Given the description of an element on the screen output the (x, y) to click on. 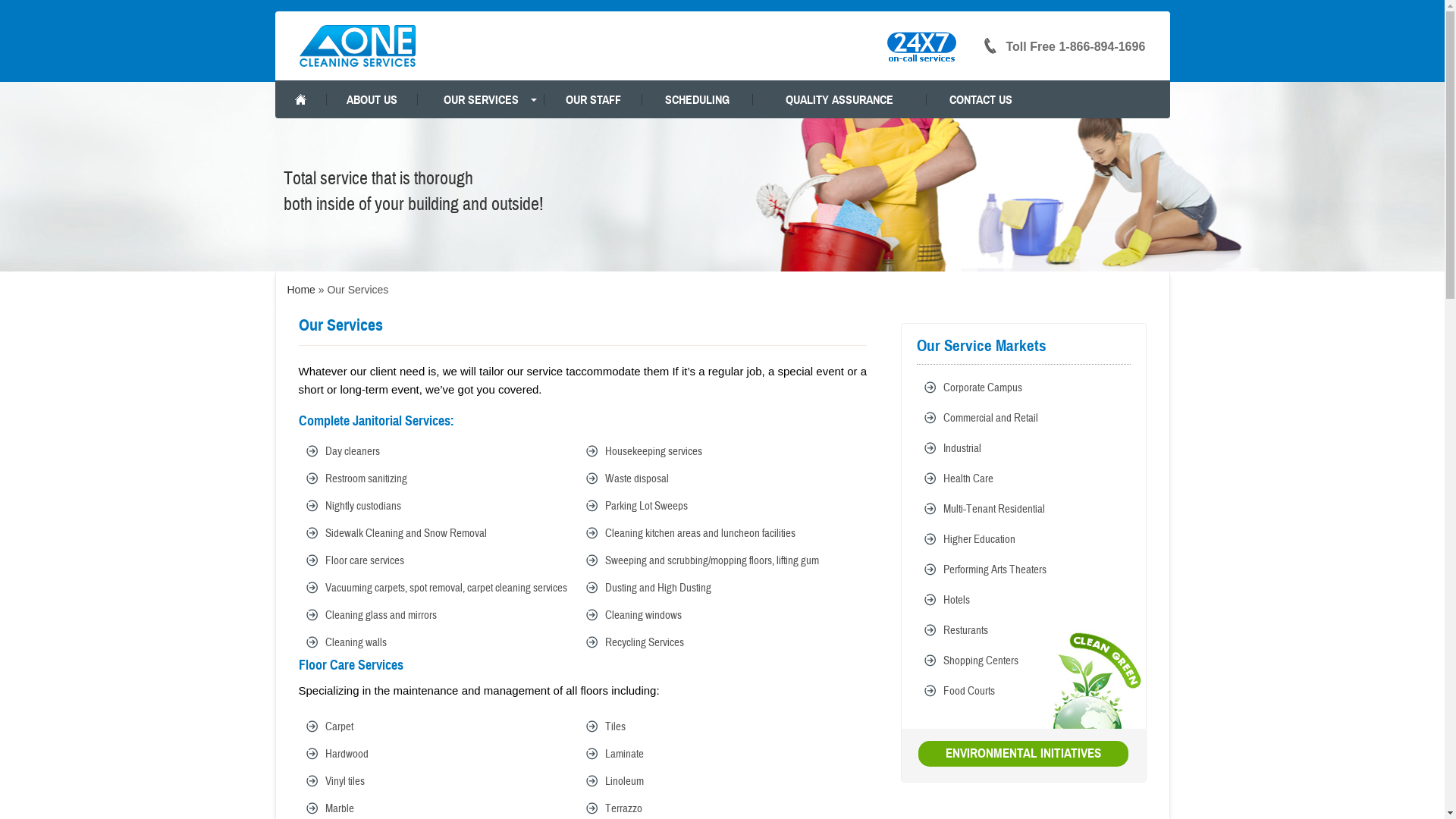
QUALITY ASSURANCE Element type: text (839, 99)
ENVIRONMENTAL INITIATIVES Element type: text (1023, 753)
OUR STAFF Element type: text (593, 99)
Toll Free 1-866-894-1696 Element type: text (1063, 46)
OUR SERVICES Element type: text (480, 99)
Home Element type: text (300, 289)
A One Cleaning Services Element type: hover (357, 45)
SCHEDULING Element type: text (697, 99)
CONTACT US Element type: text (980, 99)
HOME Element type: text (300, 99)
ABOUT US Element type: text (371, 99)
